Given the description of an element on the screen output the (x, y) to click on. 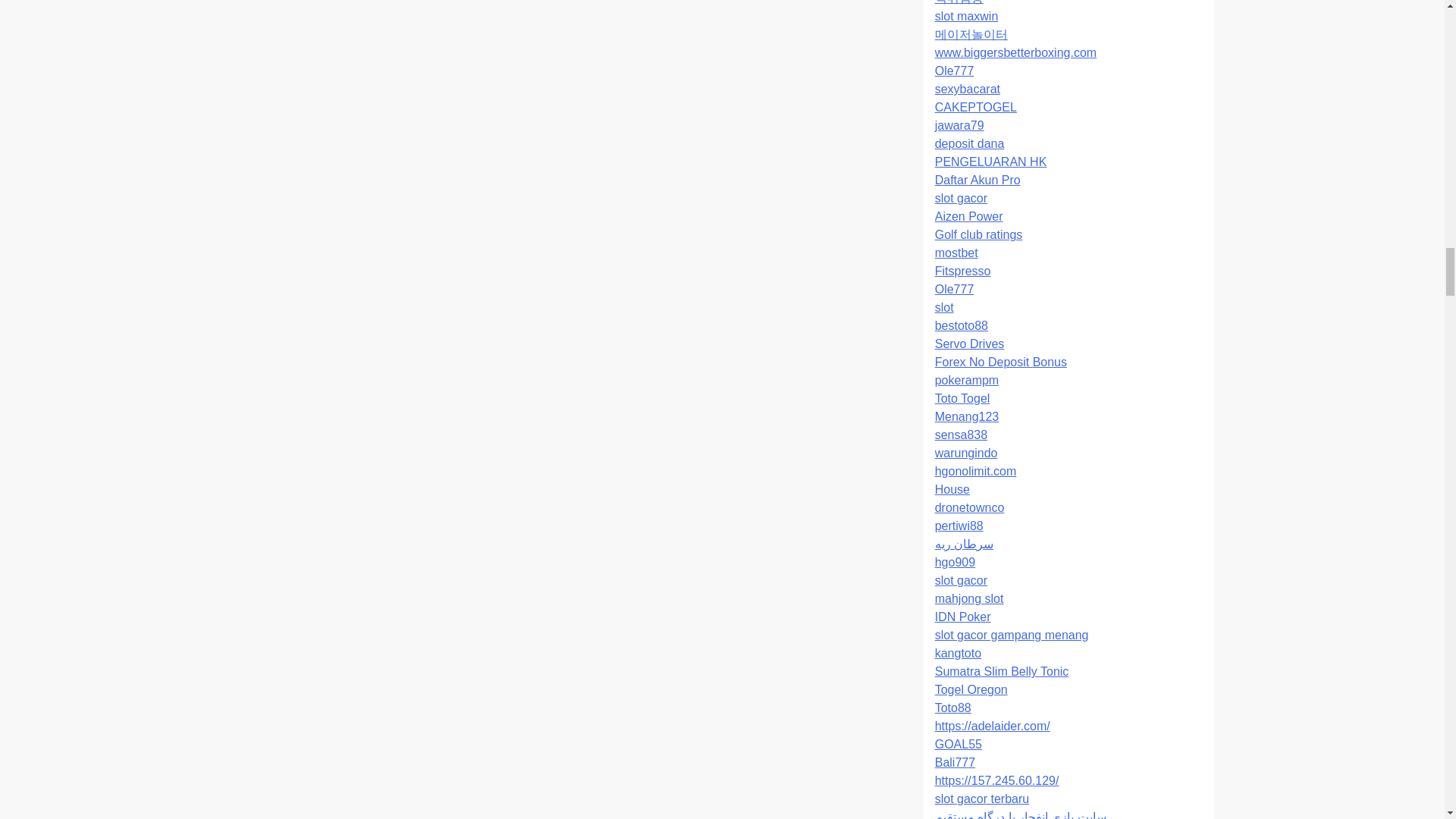
mostbet (956, 252)
